Given the description of an element on the screen output the (x, y) to click on. 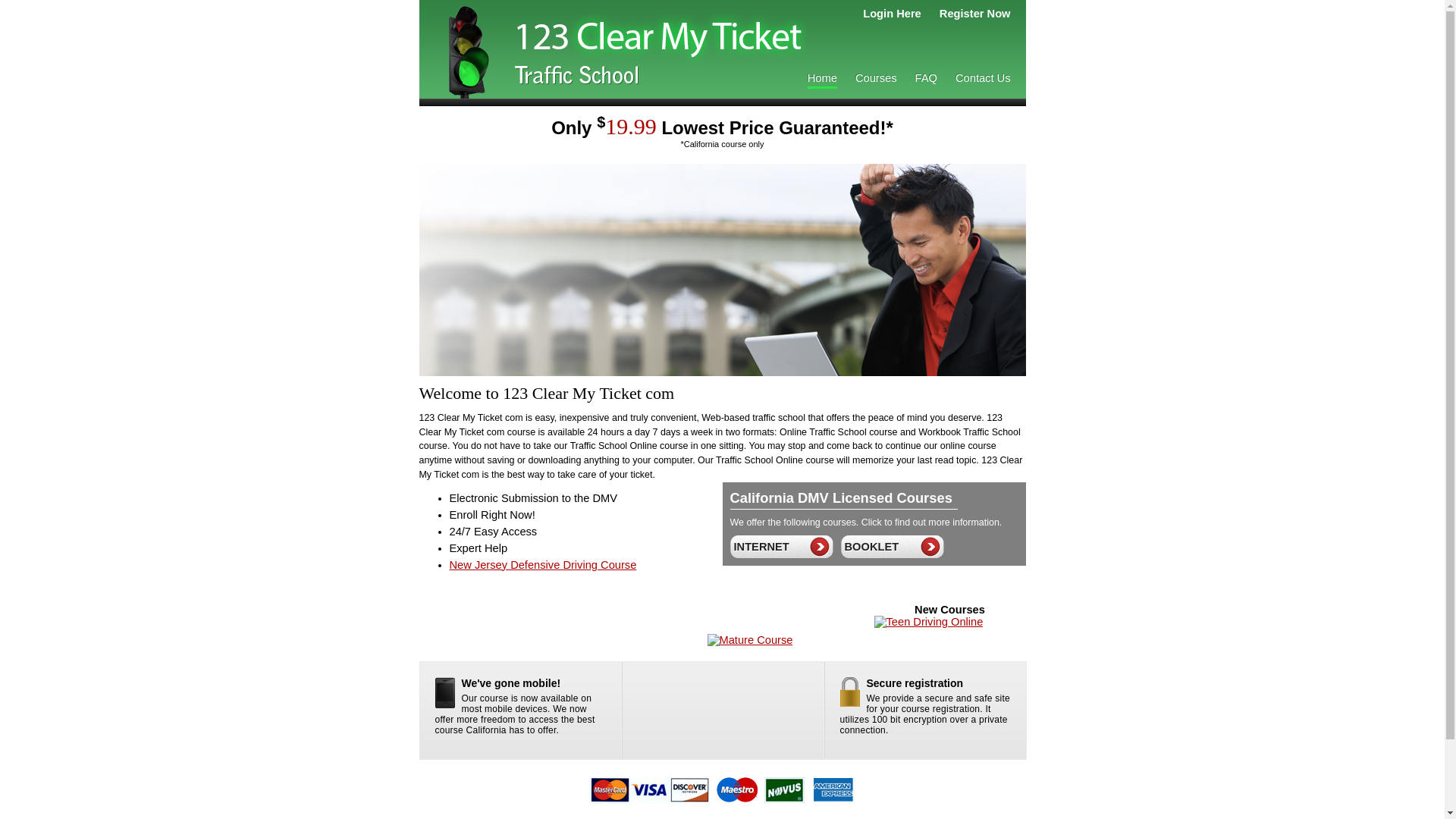
Register Now Element type: text (974, 13)
INTERNET Element type: text (758, 546)
New Jersey Defensive Driving Course Element type: text (542, 564)
Login Here Element type: text (891, 13)
Courses Element type: text (876, 77)
FAQ Element type: text (926, 77)
BOOKLET Element type: text (869, 546)
Contact Us Element type: text (982, 77)
Home Element type: text (822, 78)
Only $19.99 Lowest Price Guaranteed!* Element type: text (722, 127)
